Given the description of an element on the screen output the (x, y) to click on. 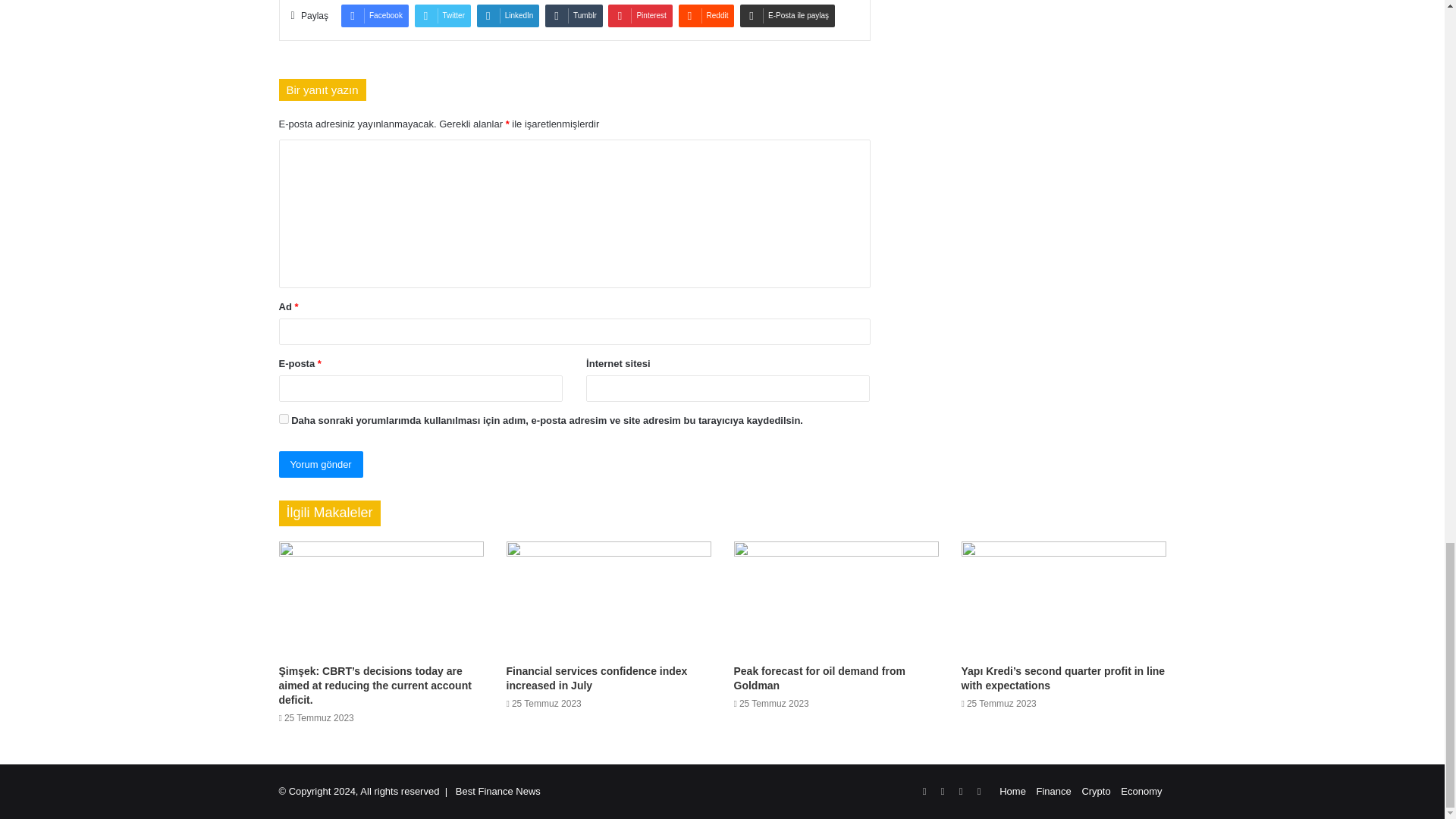
yes (283, 419)
Twitter (442, 15)
LinkedIn (508, 15)
Reddit (706, 15)
Pinterest (639, 15)
Tumblr (573, 15)
LinkedIn (508, 15)
Reddit (706, 15)
Facebook (374, 15)
Twitter (442, 15)
